Given the description of an element on the screen output the (x, y) to click on. 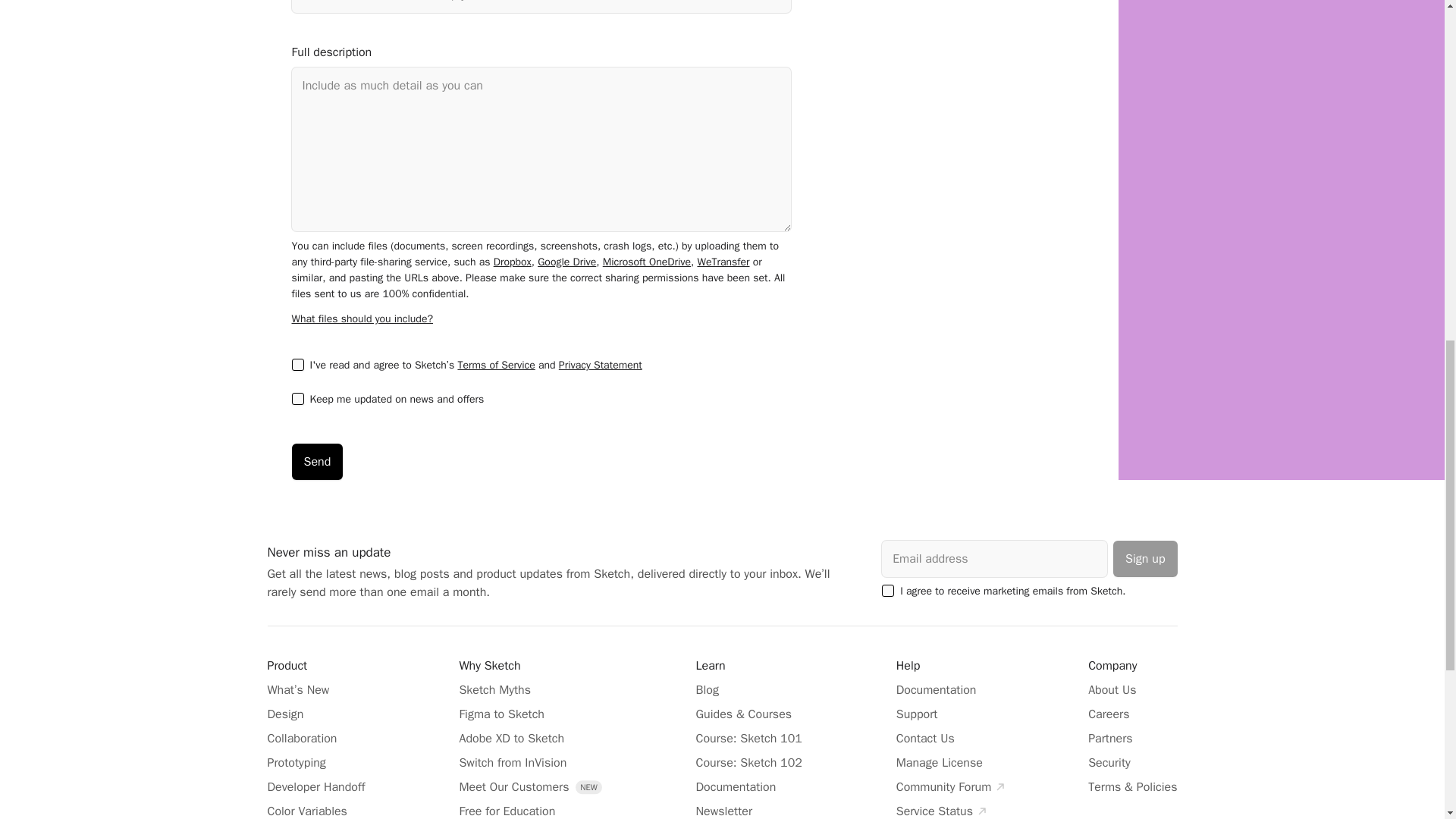
on (296, 398)
on (296, 364)
on (887, 590)
